Given the description of an element on the screen output the (x, y) to click on. 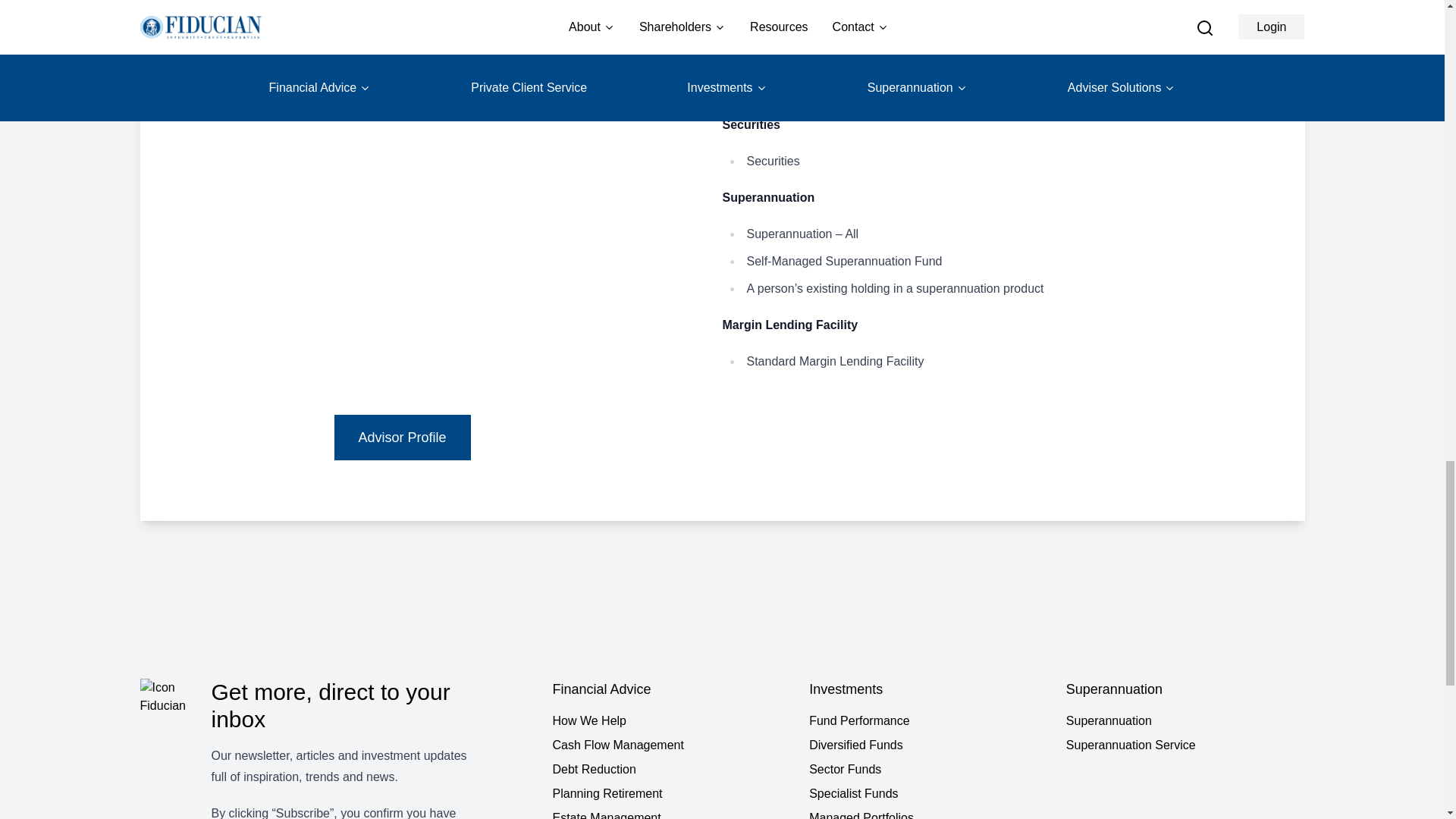
Superannuation Service (1184, 745)
Cash Flow Management (670, 745)
Fund Performance (928, 720)
Advisor Profile (401, 437)
Sector Funds (928, 769)
Managed Portfolios (928, 814)
Debt Reduction (670, 769)
Superannuation (1184, 720)
Diversified Funds (928, 745)
Specialist Funds (928, 793)
